Given the description of an element on the screen output the (x, y) to click on. 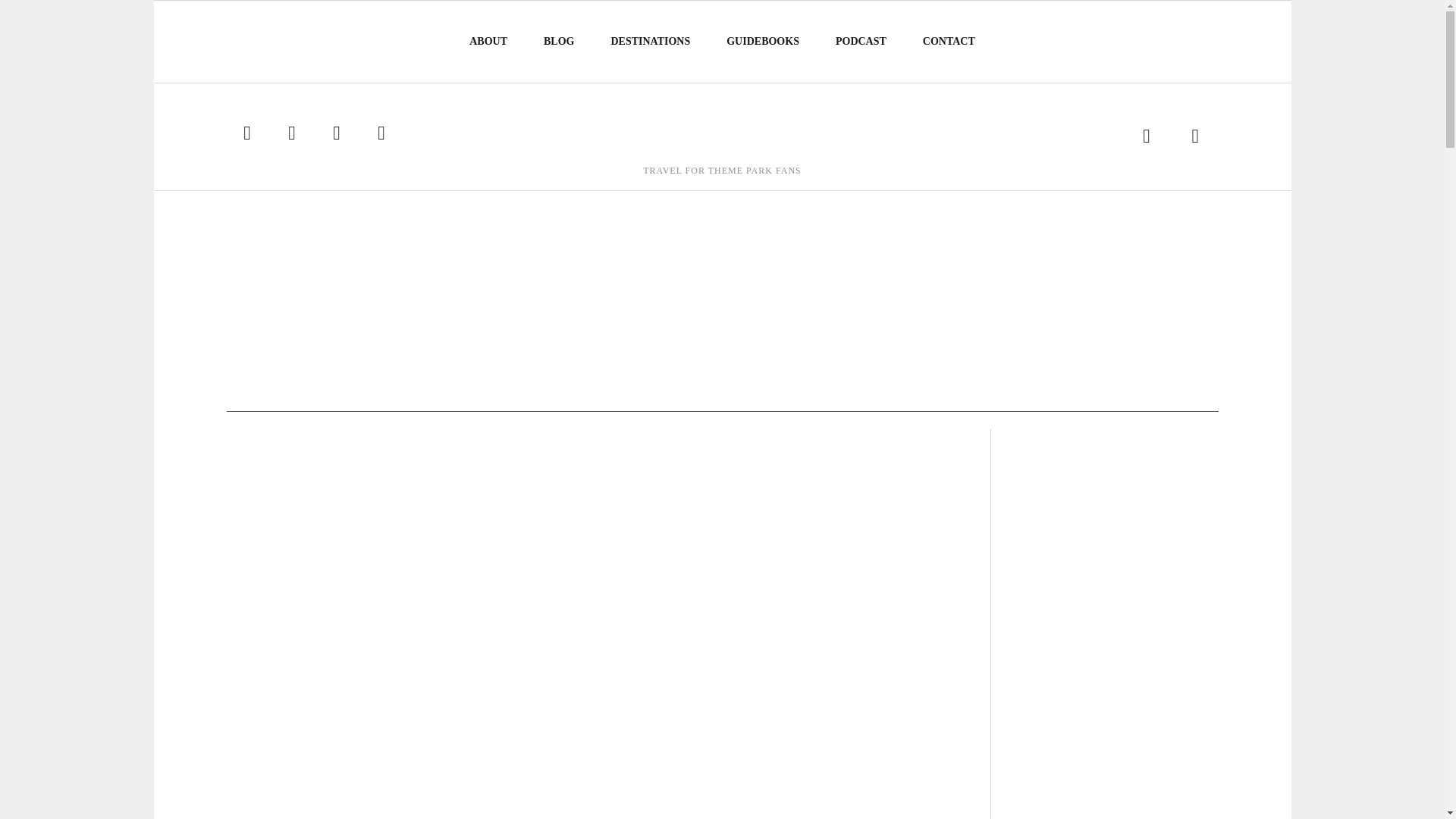
PODCAST (861, 41)
Where do you want to travel? (650, 41)
DESTINATIONS (650, 41)
Our digital guidebooks (762, 41)
BLOG (558, 41)
TDR Explorer (721, 126)
ABOUT (488, 41)
GUIDEBOOKS (762, 41)
CONTACT (949, 41)
